Given the description of an element on the screen output the (x, y) to click on. 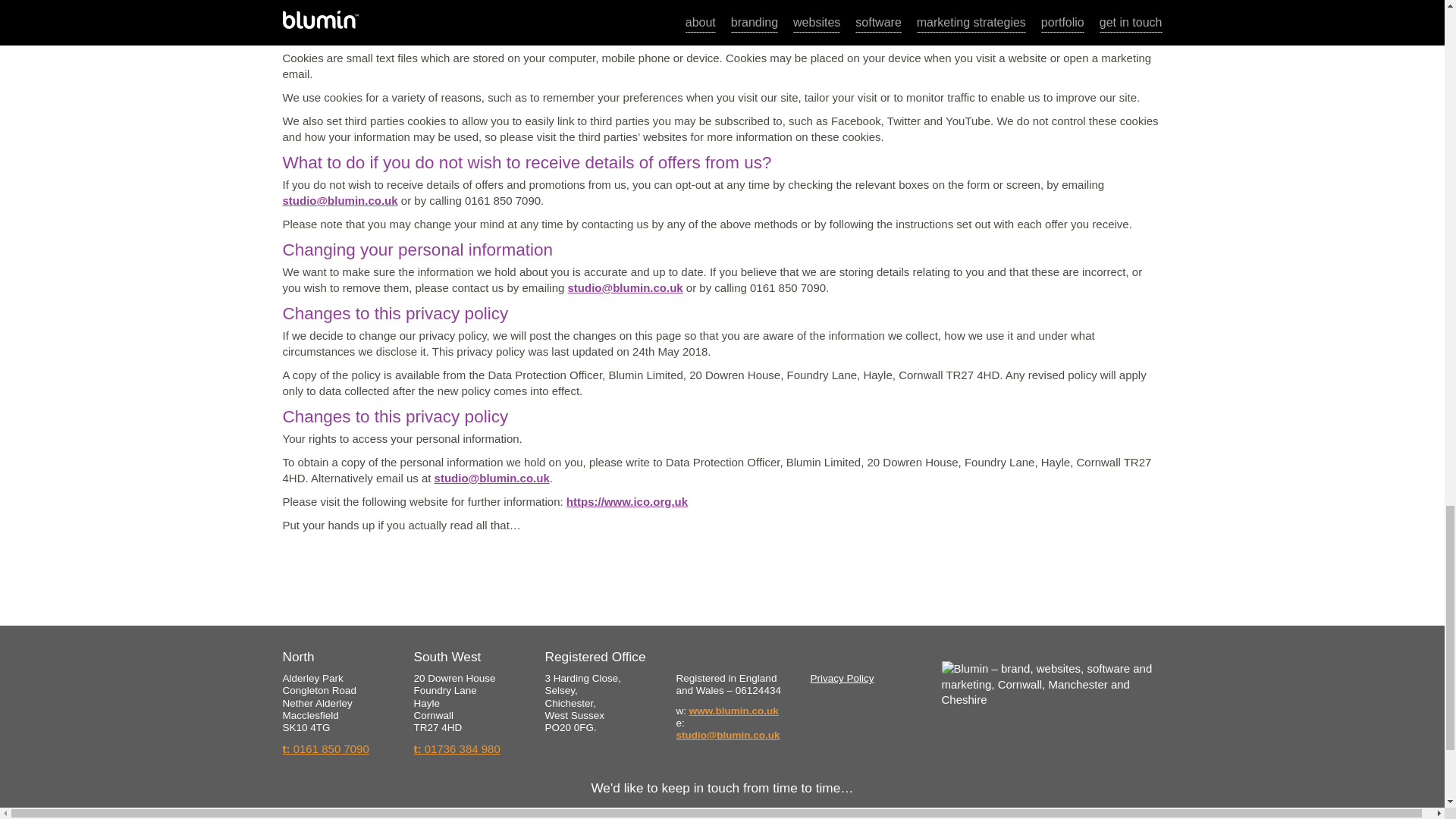
t: 0161 850 7090 (325, 749)
Privacy Policy (841, 677)
t: 01736 384 980 (456, 749)
www.blumin.co.uk (733, 710)
